Given the description of an element on the screen output the (x, y) to click on. 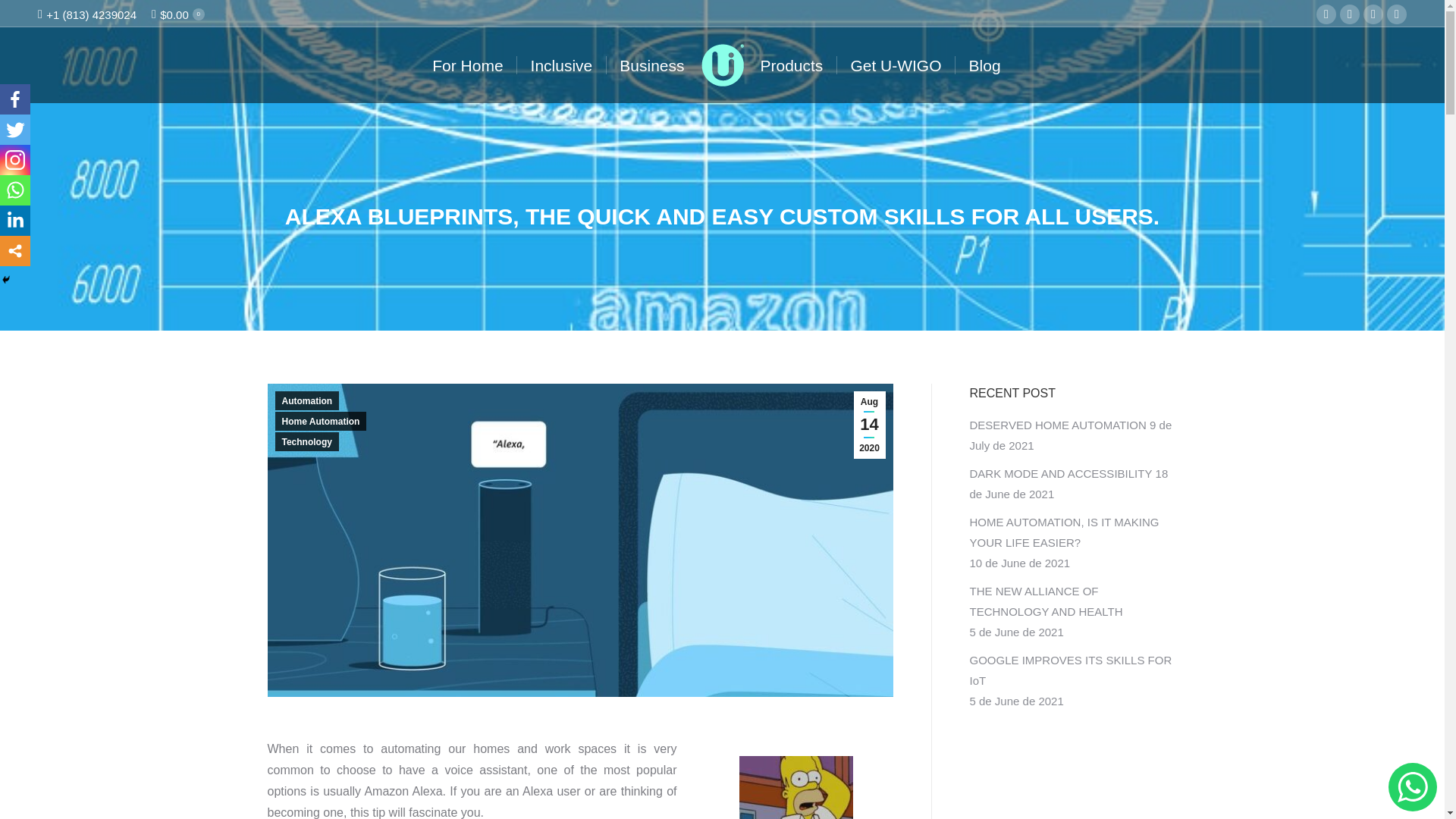
Facebook page opens in new window (1326, 14)
YouTube page opens in new window (1372, 14)
Linkedin page opens in new window (1396, 14)
YouTube page opens in new window (1372, 14)
Facebook (15, 99)
Instagram page opens in new window (1349, 14)
Instagram page opens in new window (1349, 14)
Facebook page opens in new window (1326, 14)
19:47 (869, 424)
Blog (985, 64)
For Home (467, 64)
Products (791, 64)
Inclusive (561, 64)
Get U-WIGO (895, 64)
